Given the description of an element on the screen output the (x, y) to click on. 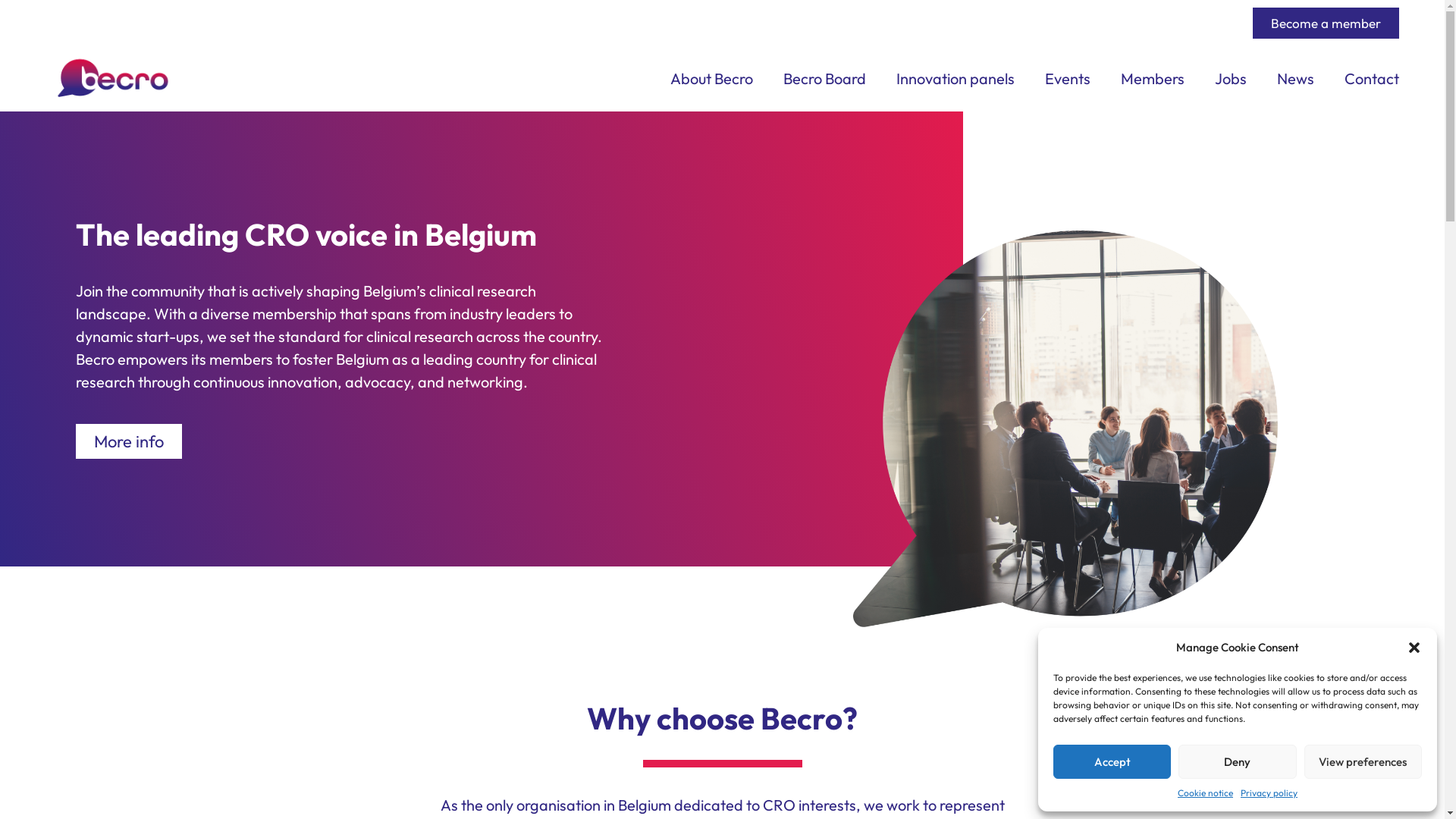
About Becro Element type: text (711, 78)
Events Element type: text (1067, 78)
Accept Element type: text (1111, 761)
News Element type: text (1295, 78)
View preferences Element type: text (1362, 761)
Contact Element type: text (1371, 78)
Innovation panels Element type: text (955, 78)
Deny Element type: text (1236, 761)
Become a member Element type: text (1325, 22)
Jobs Element type: text (1230, 78)
Becro Board Element type: text (824, 78)
Cookie notice Element type: text (1205, 793)
Members Element type: text (1152, 78)
Privacy policy Element type: text (1268, 793)
More info Element type: text (128, 440)
